Given the description of an element on the screen output the (x, y) to click on. 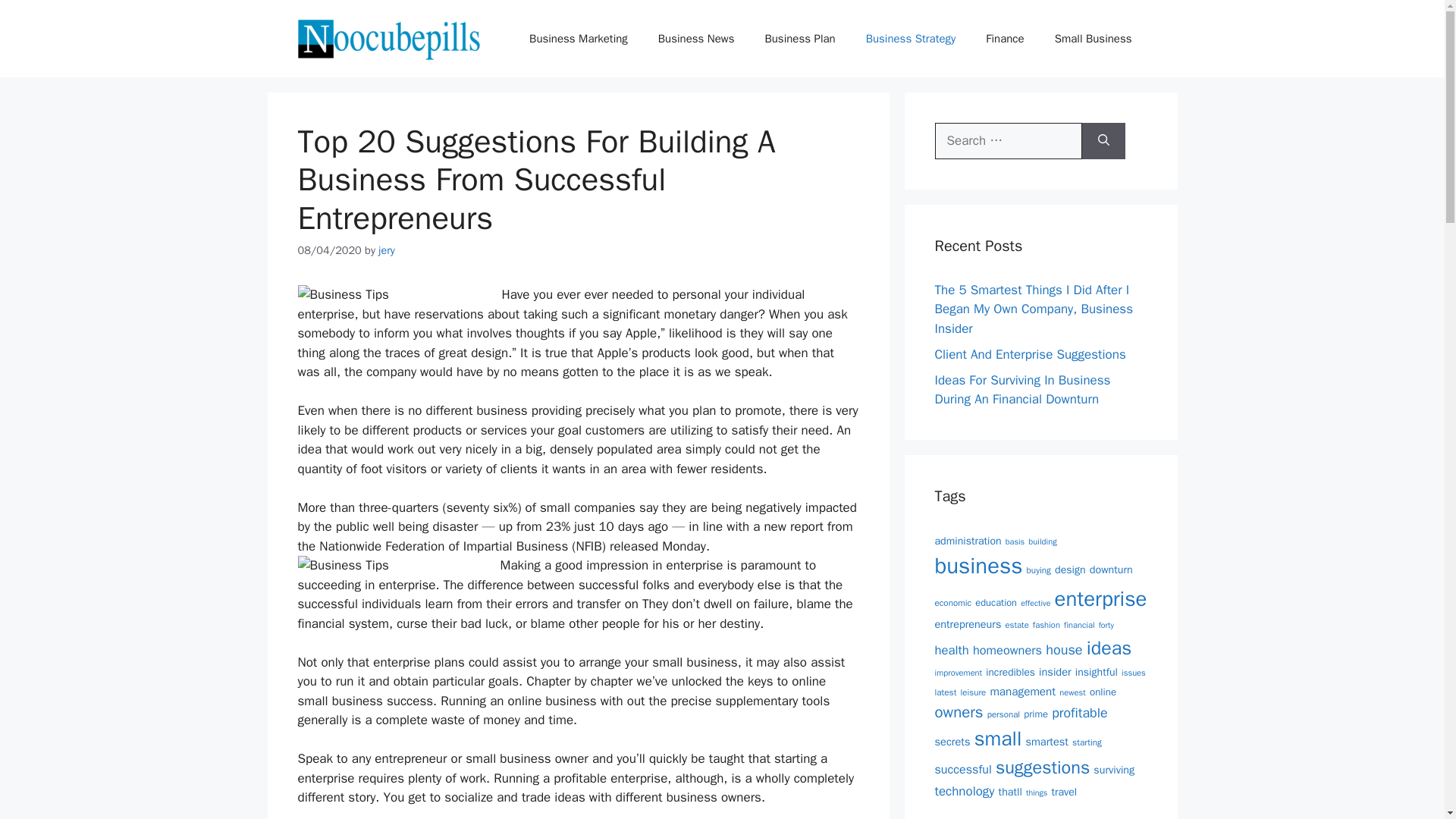
Client And Enterprise Suggestions (1029, 353)
financial (1079, 624)
Business Plan (799, 38)
Business Marketing (578, 38)
Finance (1005, 38)
jery (386, 250)
Business News (696, 38)
Ideas For Surviving In Business During An Financial Downturn (1021, 389)
administration (967, 540)
basis (1015, 542)
forty (1106, 624)
business (978, 565)
fashion (1045, 624)
building (1042, 540)
